Given the description of an element on the screen output the (x, y) to click on. 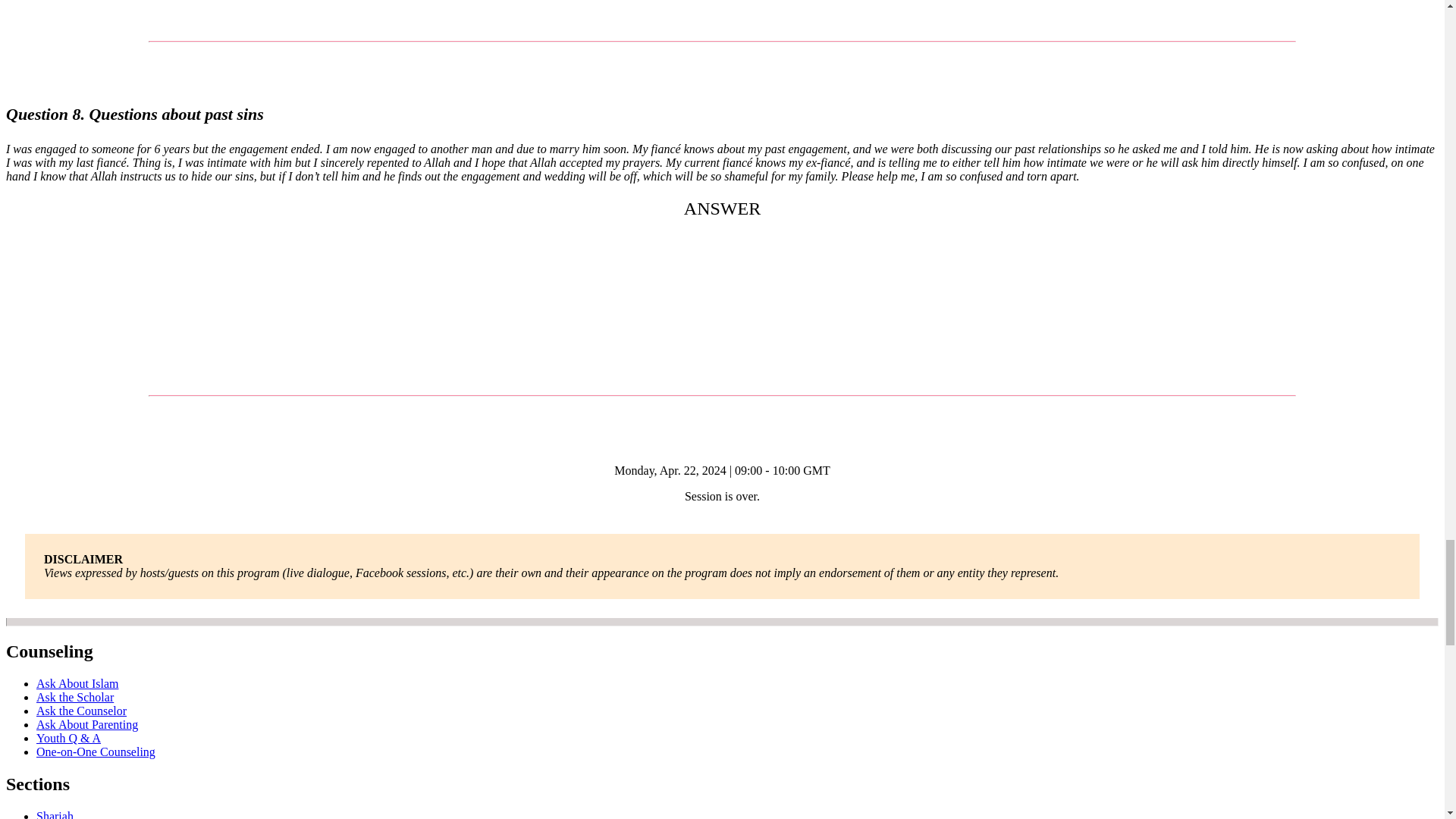
Ask About Parenting (87, 724)
Ask the Counselor (81, 710)
One-on-One Counseling (95, 751)
Ask About Islam (76, 683)
Ask the Scholar (74, 697)
